Given the description of an element on the screen output the (x, y) to click on. 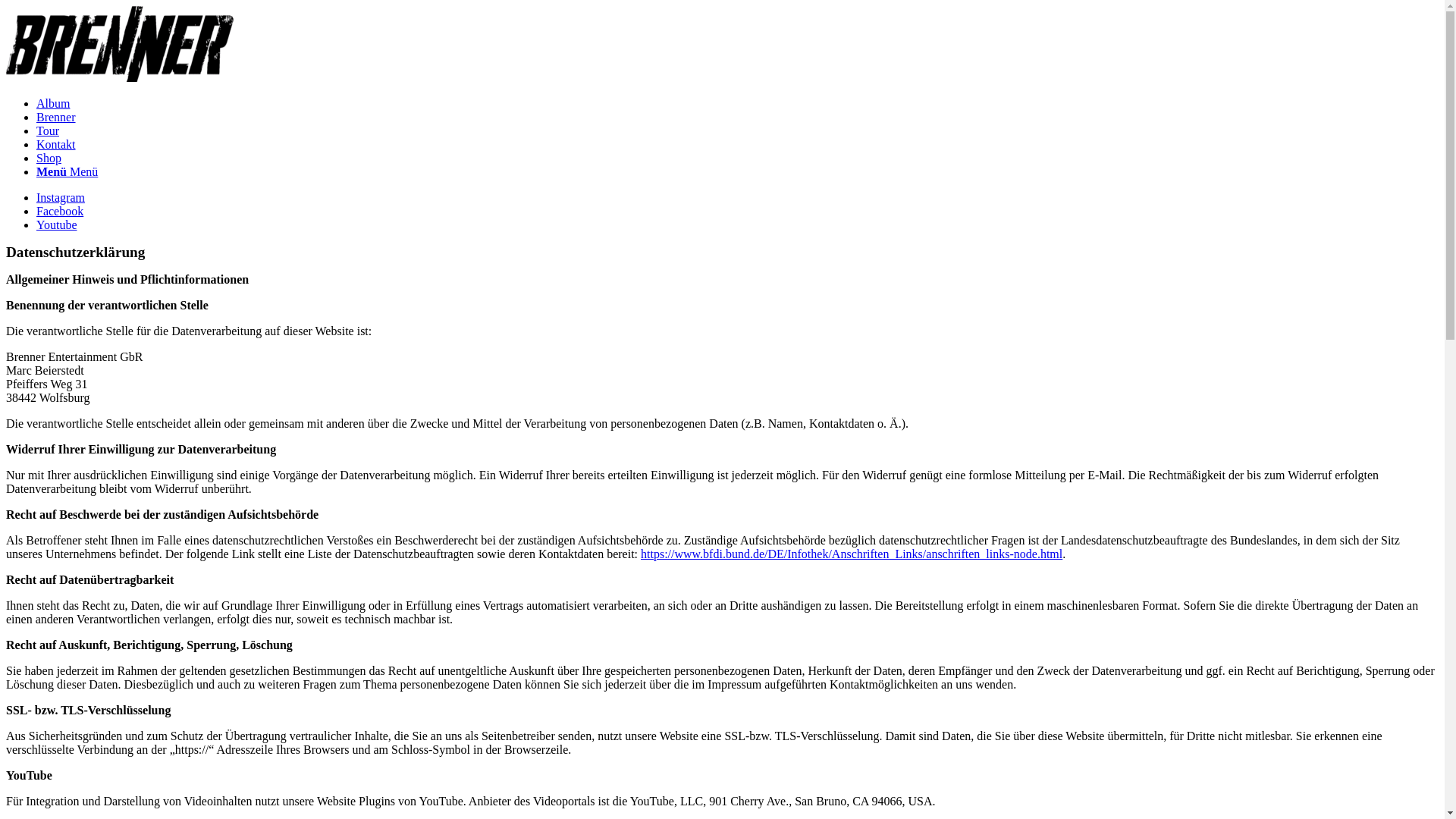
Album Element type: text (52, 103)
Tour Element type: text (47, 130)
Instagram Element type: text (60, 197)
Brenner Element type: text (55, 116)
Youtube Element type: text (56, 224)
Kontakt Element type: text (55, 144)
Facebook Element type: text (59, 210)
Shop Element type: text (48, 157)
